Given the description of an element on the screen output the (x, y) to click on. 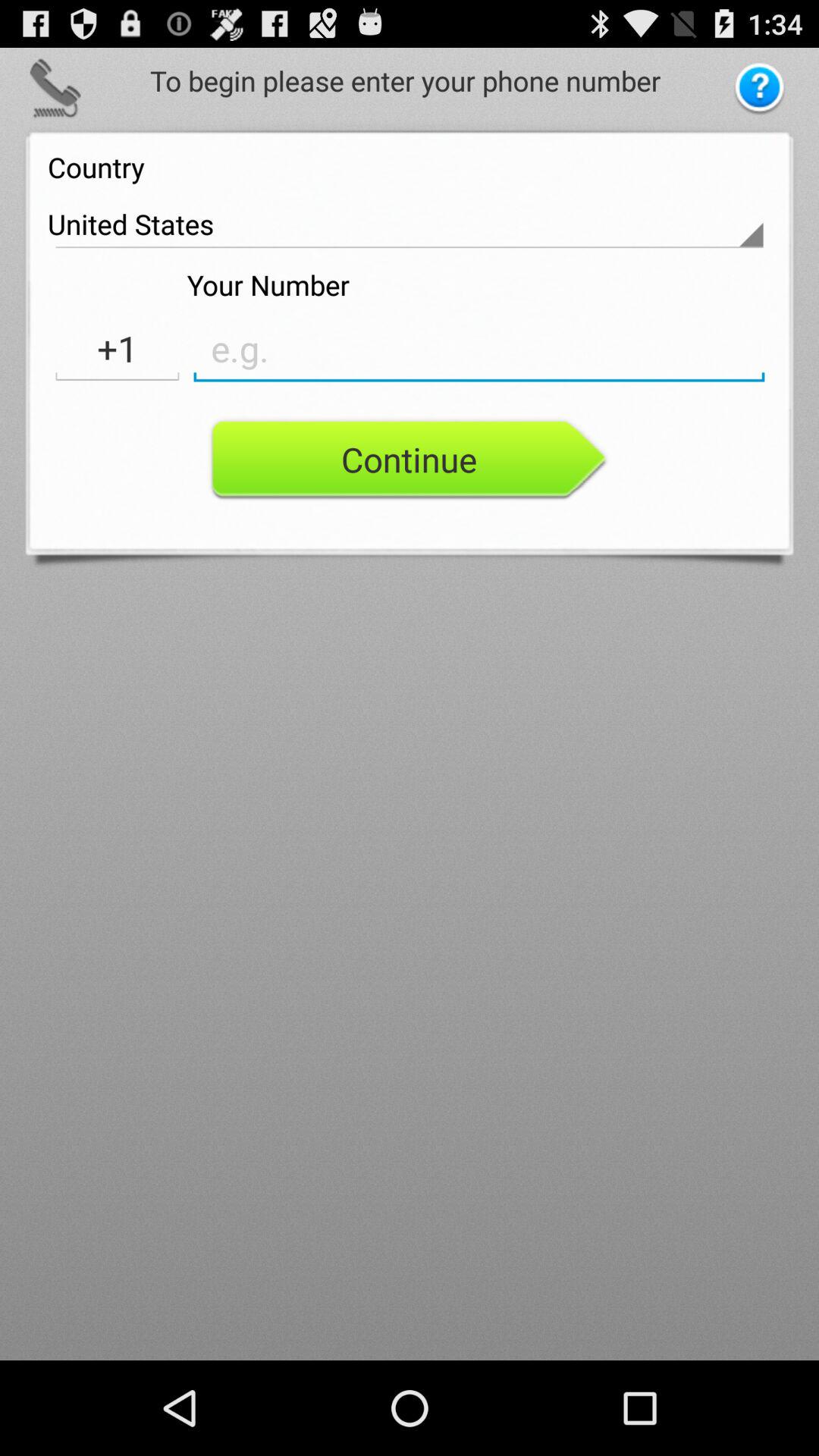
enter phone number (479, 348)
